Given the description of an element on the screen output the (x, y) to click on. 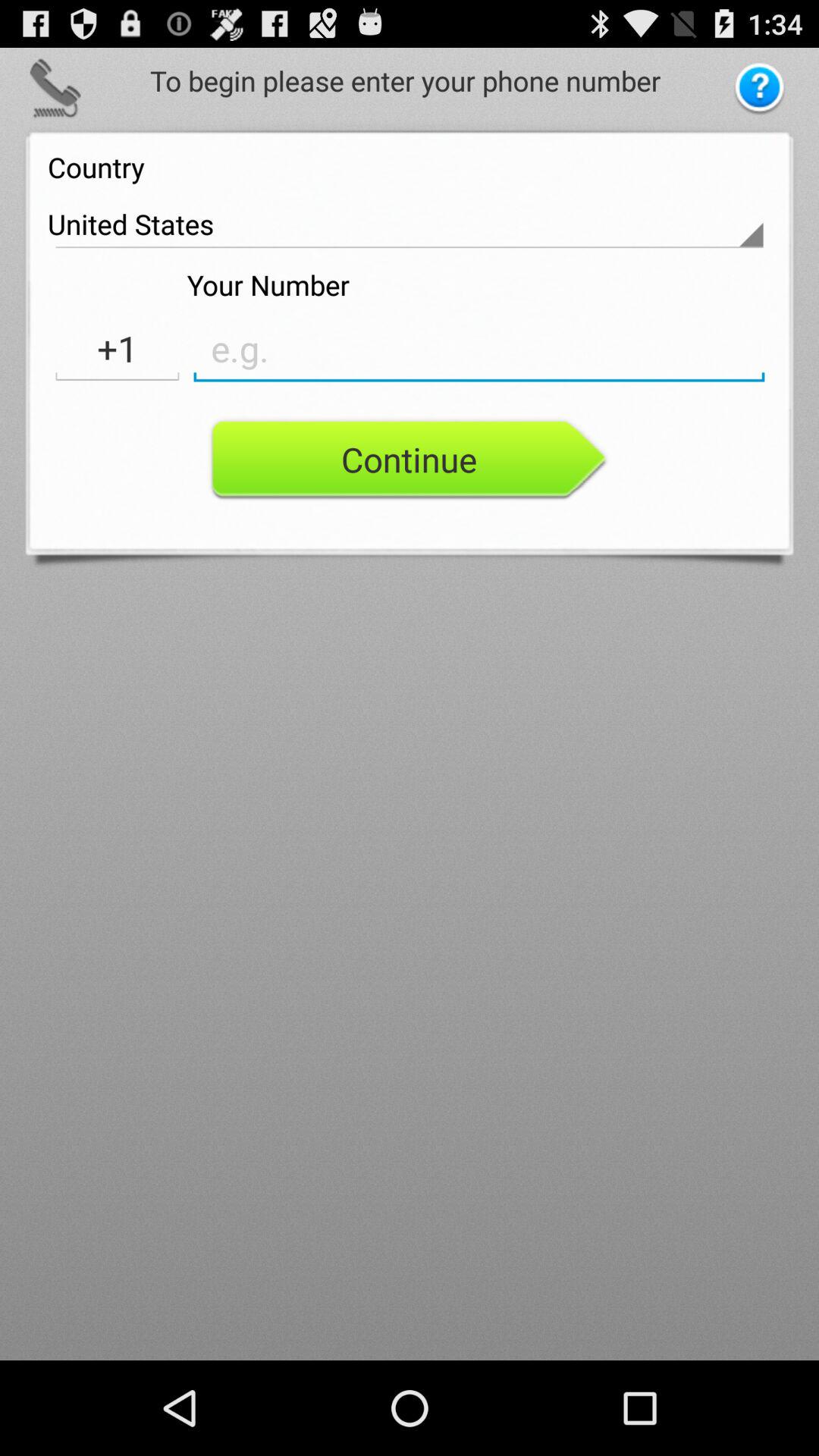
enter phone number (479, 348)
